Given the description of an element on the screen output the (x, y) to click on. 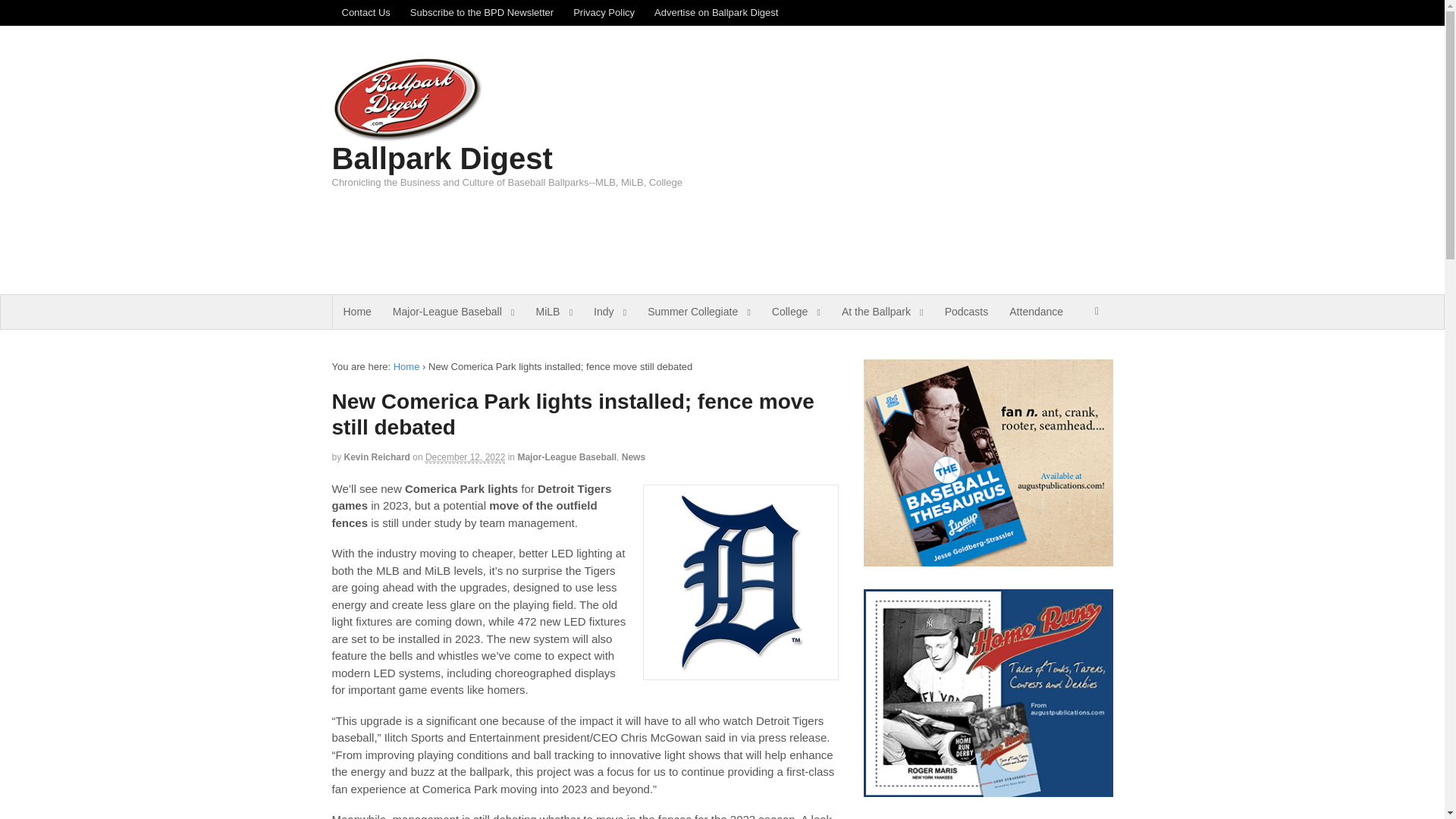
News (633, 457)
Summer Collegiate (699, 311)
Subscribe to the BPD Newsletter (481, 12)
Contact Us (365, 12)
Advertise on Ballpark Digest (716, 12)
Kevin Reichard (376, 457)
Home (356, 311)
Major-League Baseball (453, 311)
Posts by Kevin Reichard (376, 457)
Ballpark Digest (406, 366)
MiLB (553, 311)
Major-League Baseball (565, 457)
Podcasts (966, 311)
View all items in Major-League Baseball (565, 457)
View all items in News (633, 457)
